Given the description of an element on the screen output the (x, y) to click on. 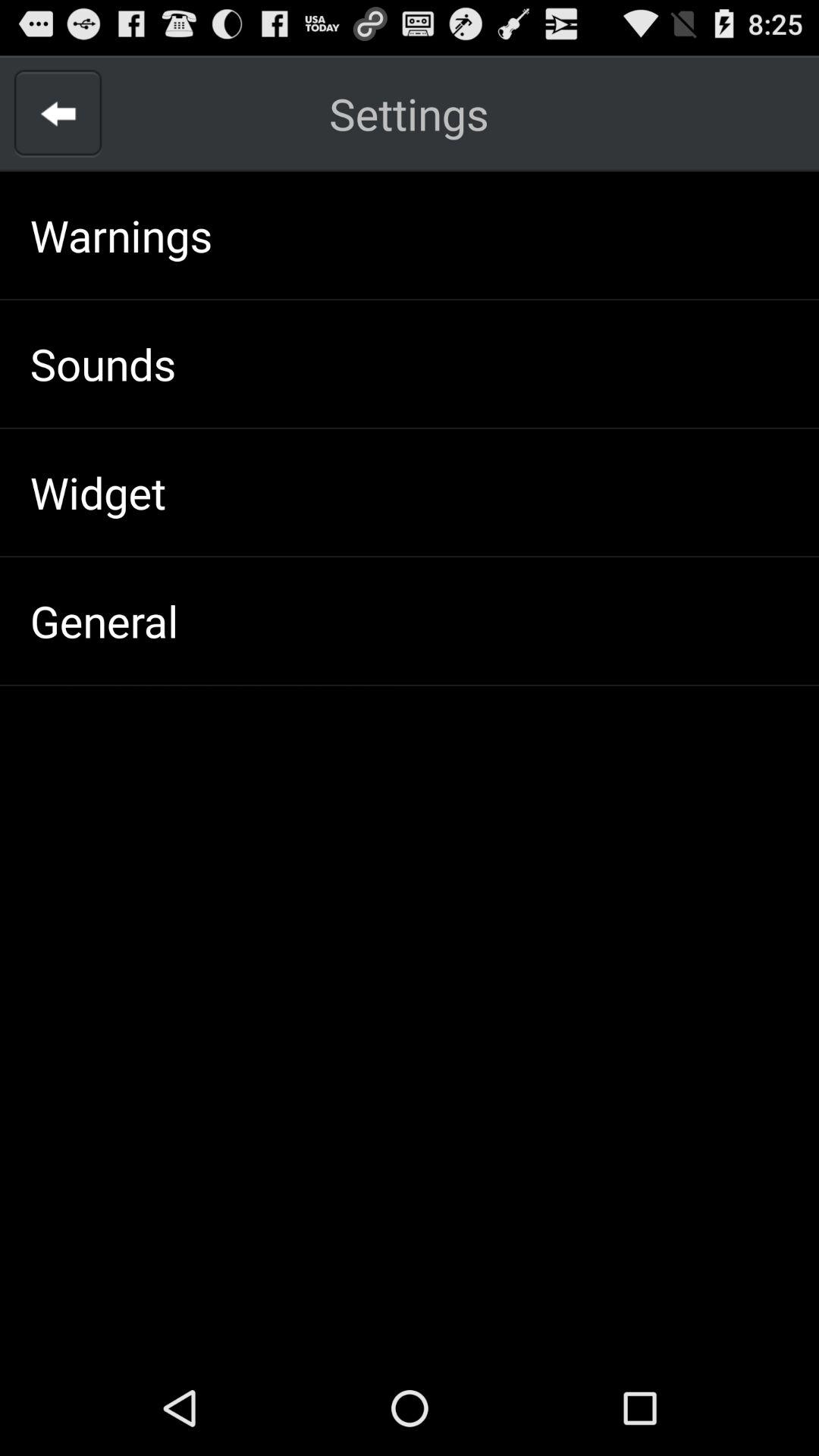
tap the sounds app (103, 363)
